Given the description of an element on the screen output the (x, y) to click on. 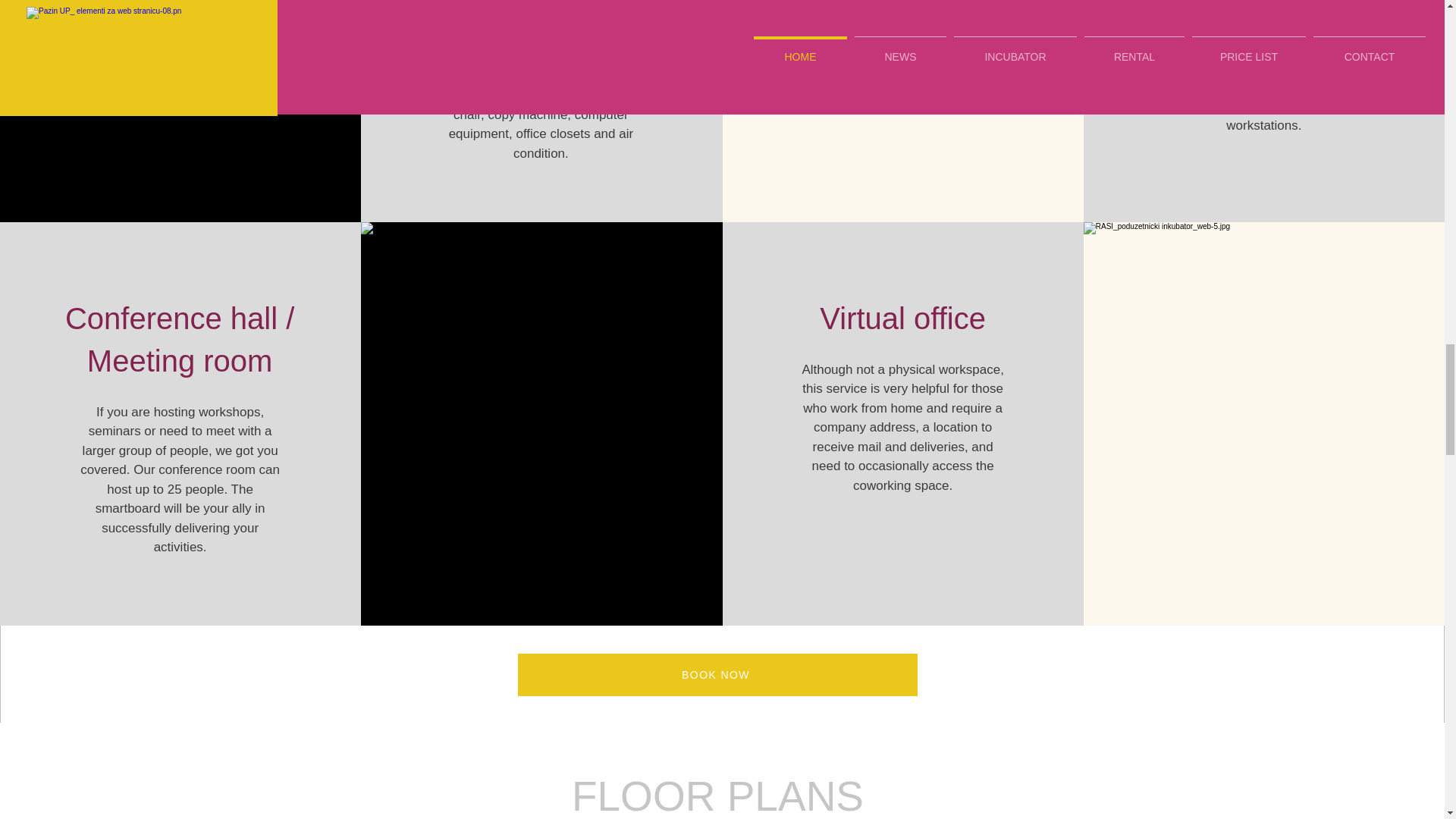
BOOK NOW (716, 674)
